Given the description of an element on the screen output the (x, y) to click on. 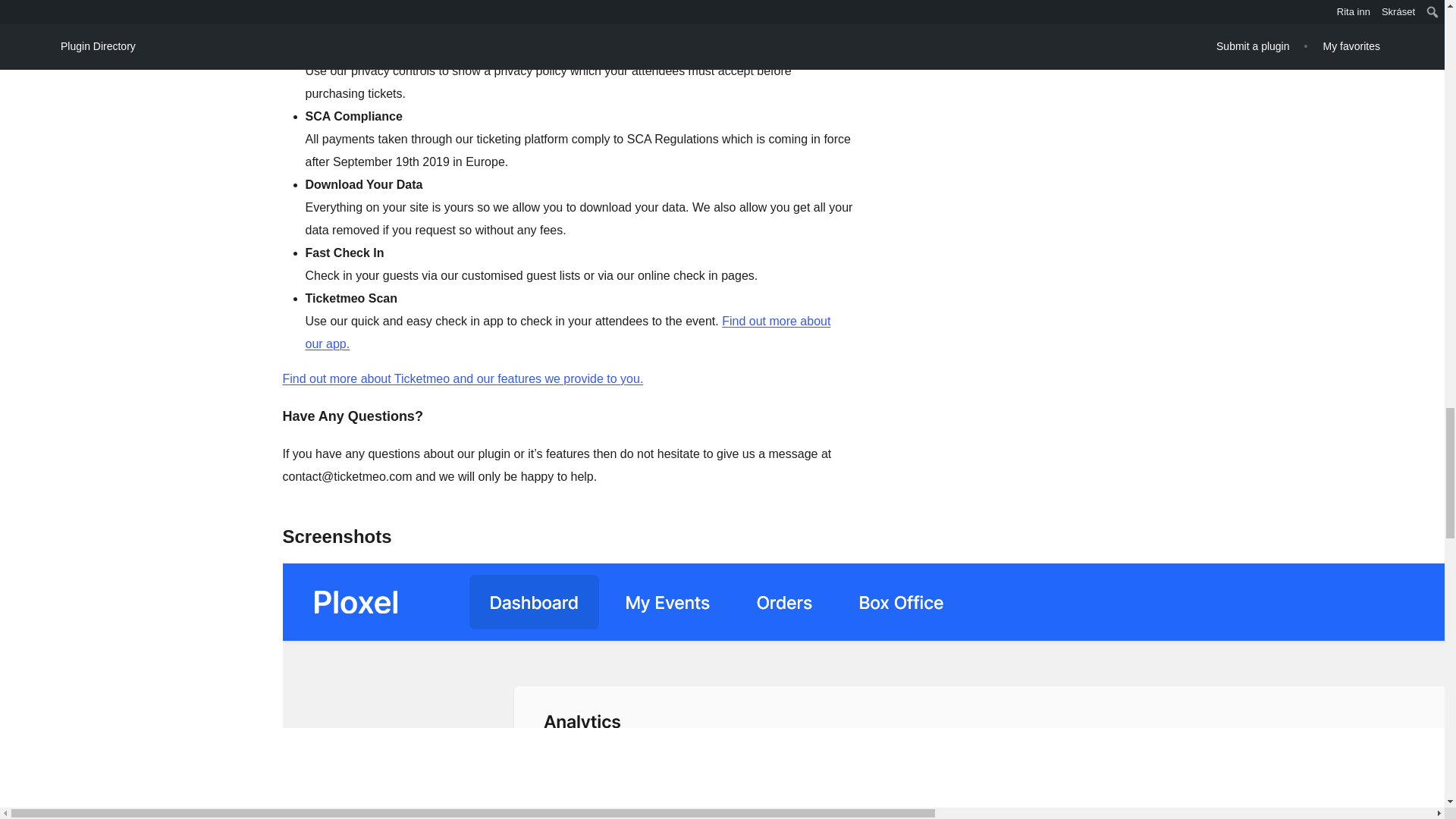
Find out more about our app. (566, 332)
